Given the description of an element on the screen output the (x, y) to click on. 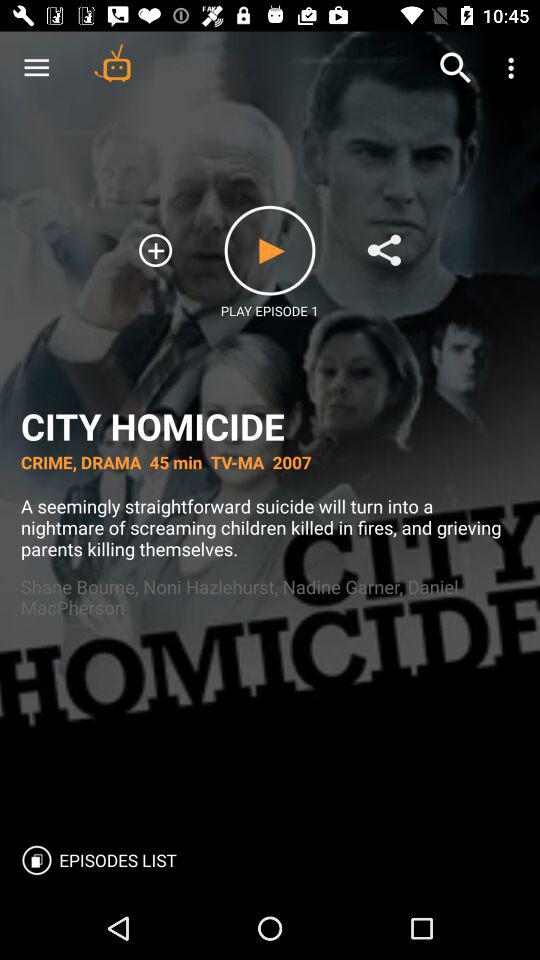
play episode (269, 250)
